Given the description of an element on the screen output the (x, y) to click on. 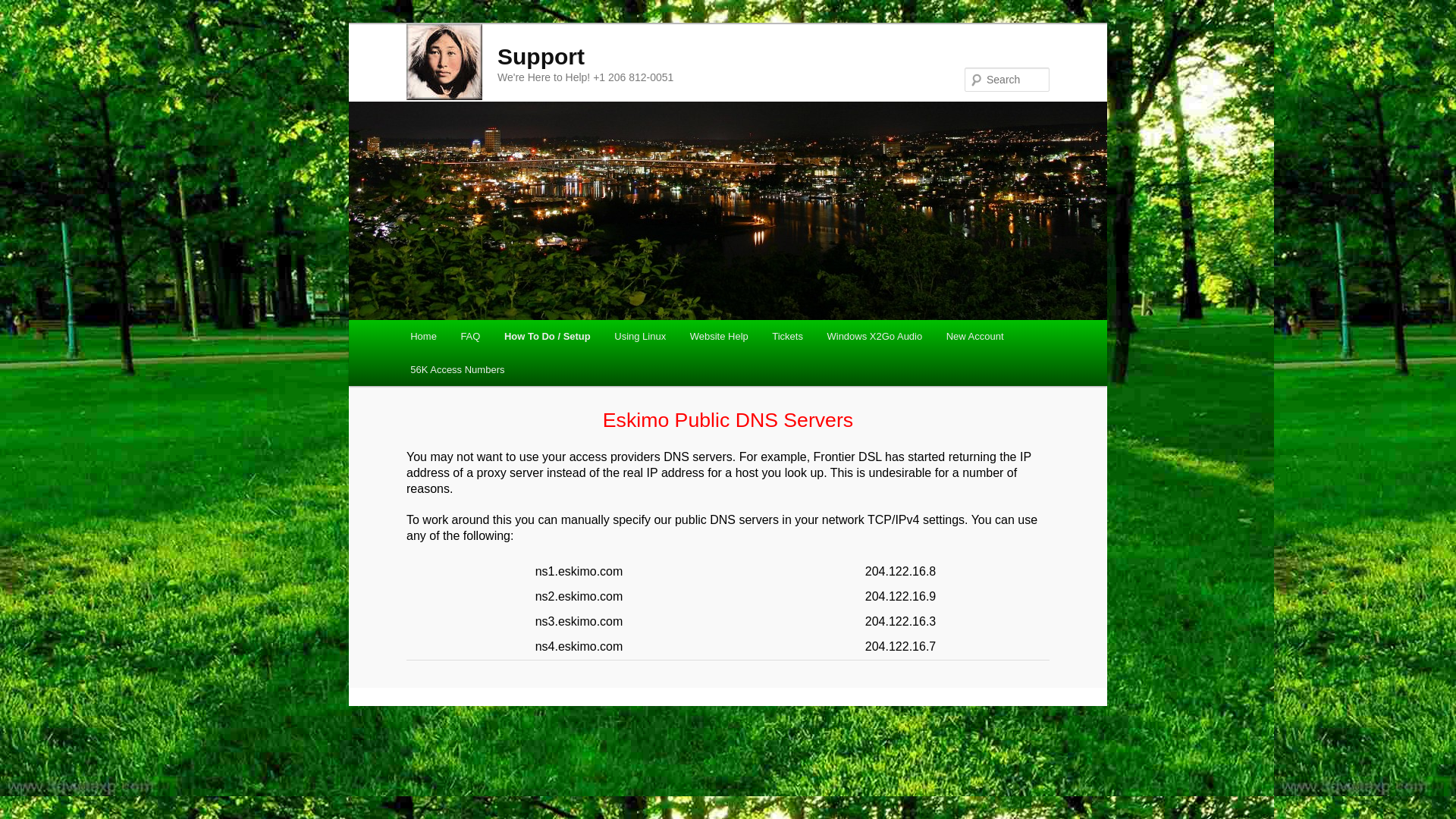
Using Linux (639, 336)
Home (422, 336)
Search (24, 8)
Support (541, 56)
FAQ (470, 336)
